Given the description of an element on the screen output the (x, y) to click on. 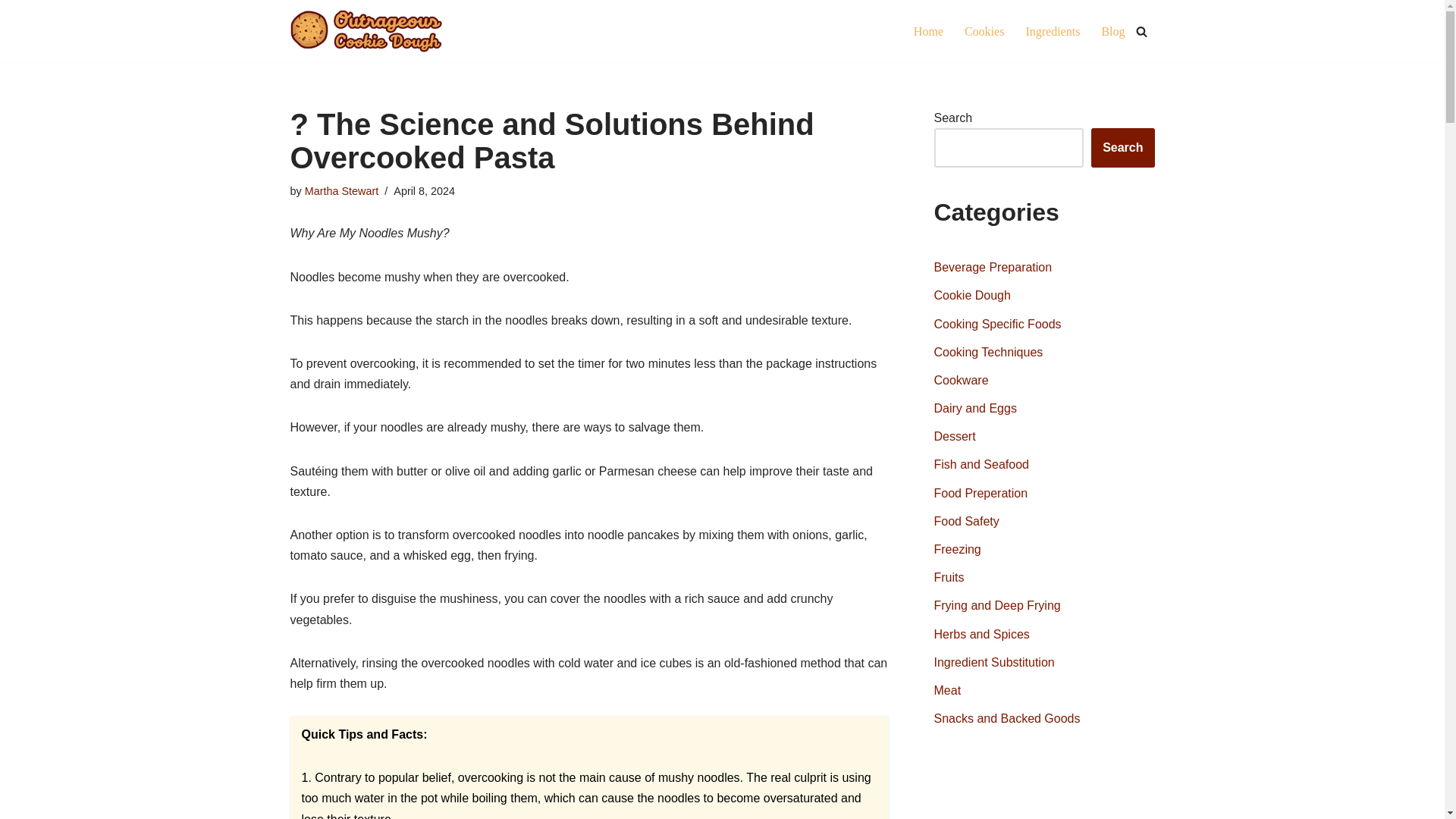
Dessert (954, 436)
Beverage Preparation (993, 267)
Fish and Seafood (981, 463)
Food Preperation (980, 492)
Blog (1112, 31)
Skip to content (11, 31)
Fruits (948, 576)
Freezing (957, 549)
Cookie Dough (972, 295)
Food Safety (966, 521)
